Given the description of an element on the screen output the (x, y) to click on. 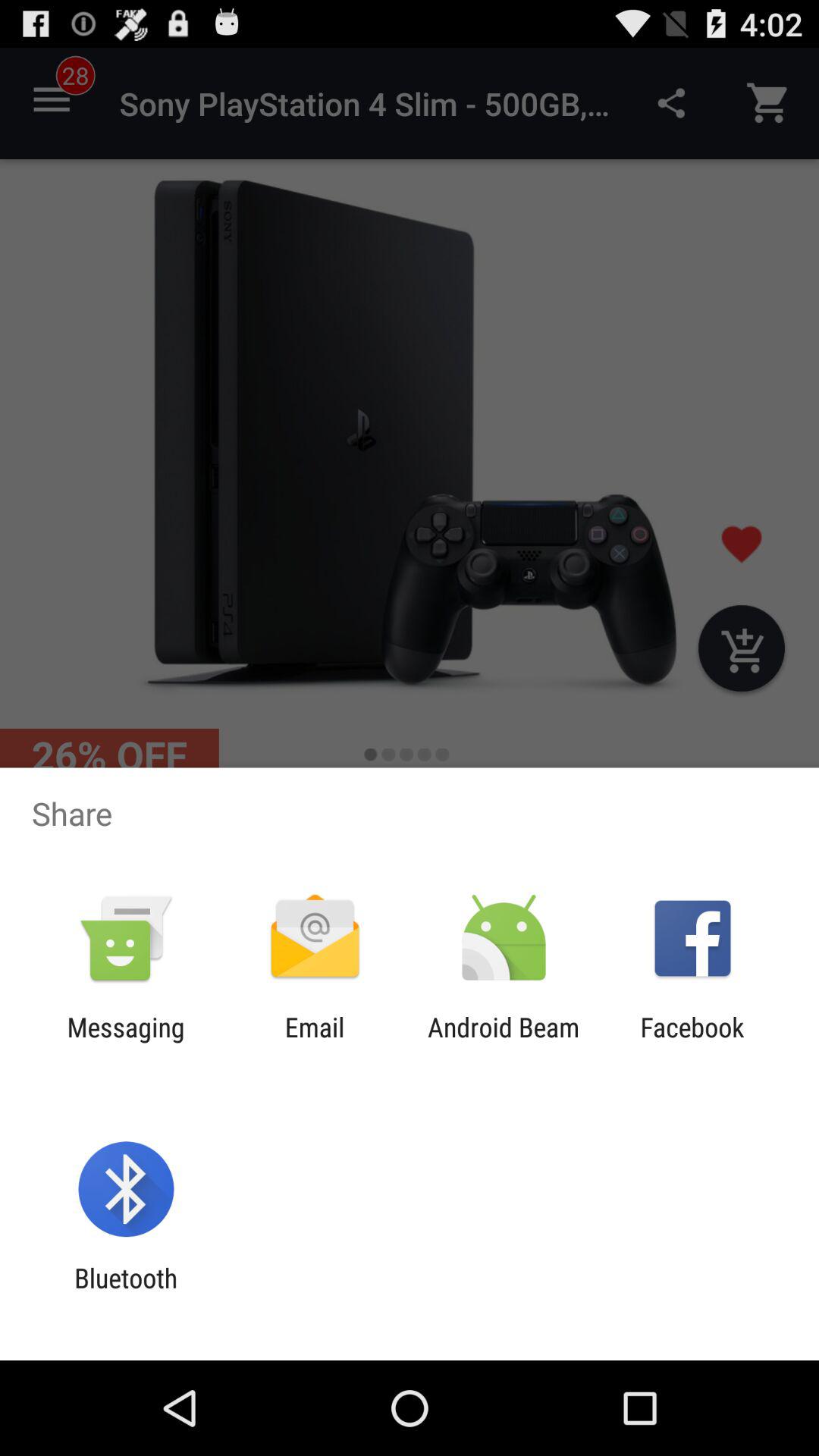
click email icon (314, 1042)
